Given the description of an element on the screen output the (x, y) to click on. 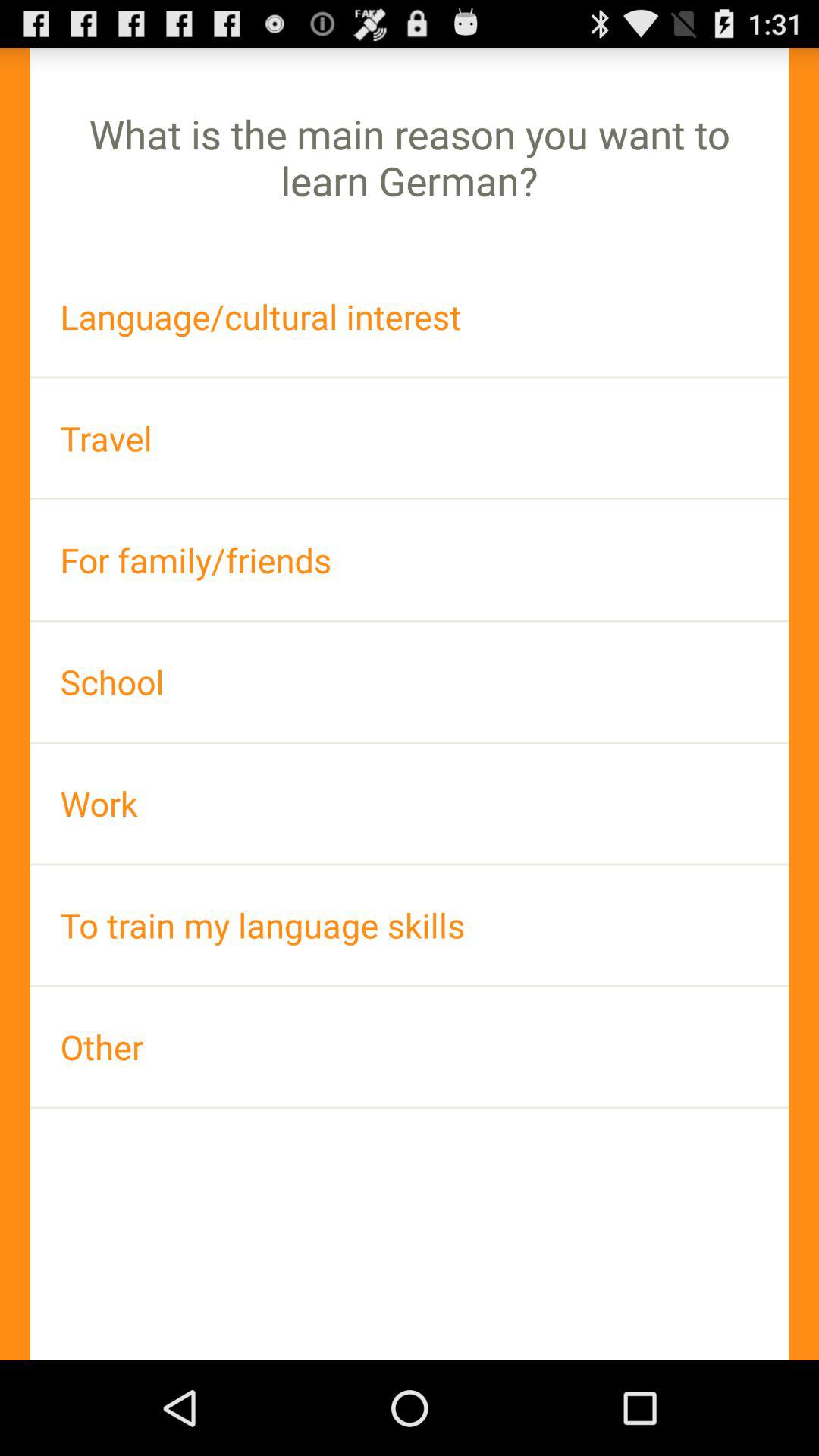
select language/cultural interest item (409, 316)
